Given the description of an element on the screen output the (x, y) to click on. 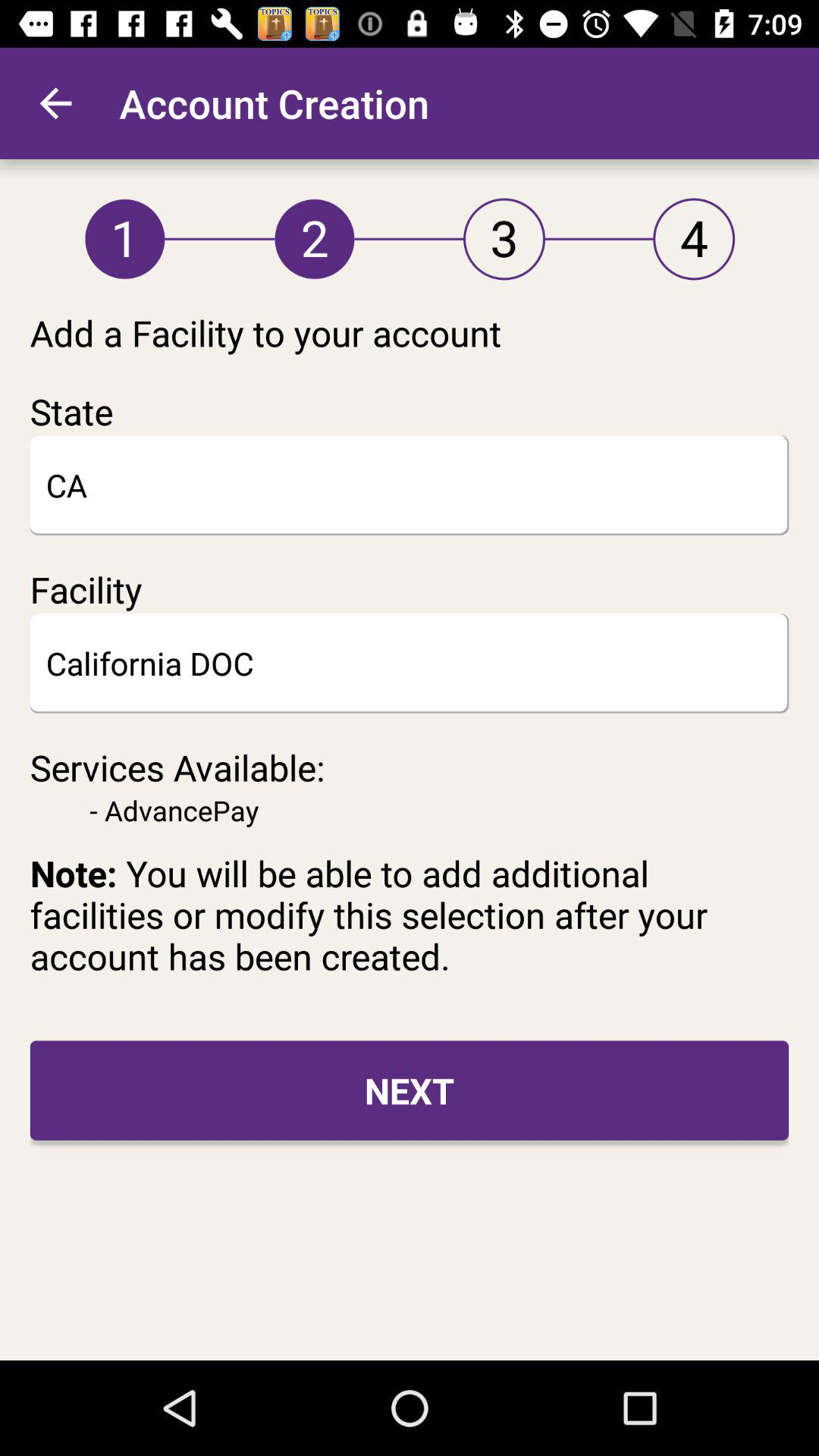
open next item (409, 1090)
